Given the description of an element on the screen output the (x, y) to click on. 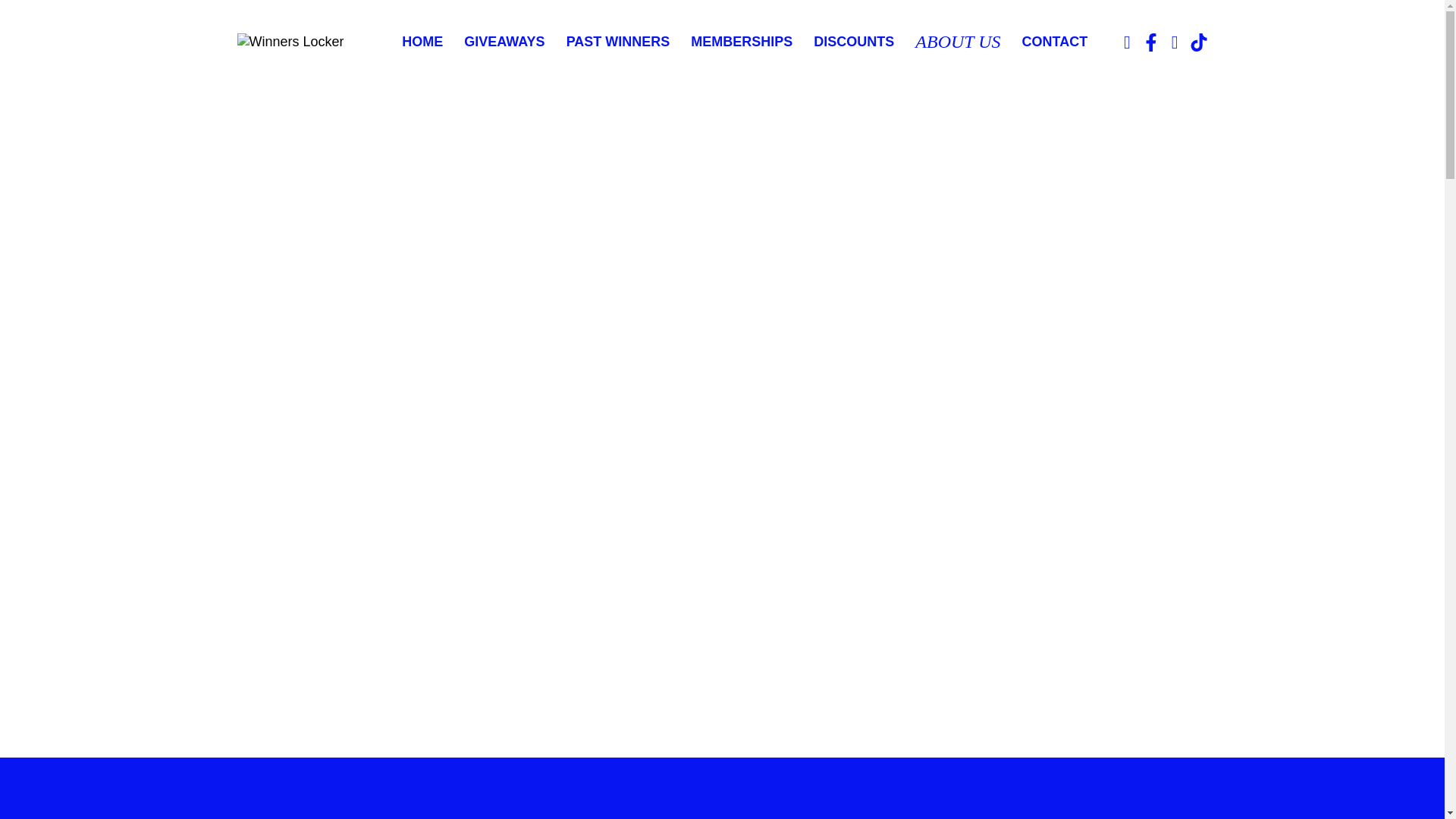
DISCOUNTS (853, 41)
GIVEAWAYS (504, 41)
CONTACT (1054, 41)
HOME (421, 41)
PAST WINNERS (617, 41)
TikTok (1198, 42)
MEMBERSHIPS (741, 41)
Facebook (1150, 42)
ABOUT US (957, 41)
